Given the description of an element on the screen output the (x, y) to click on. 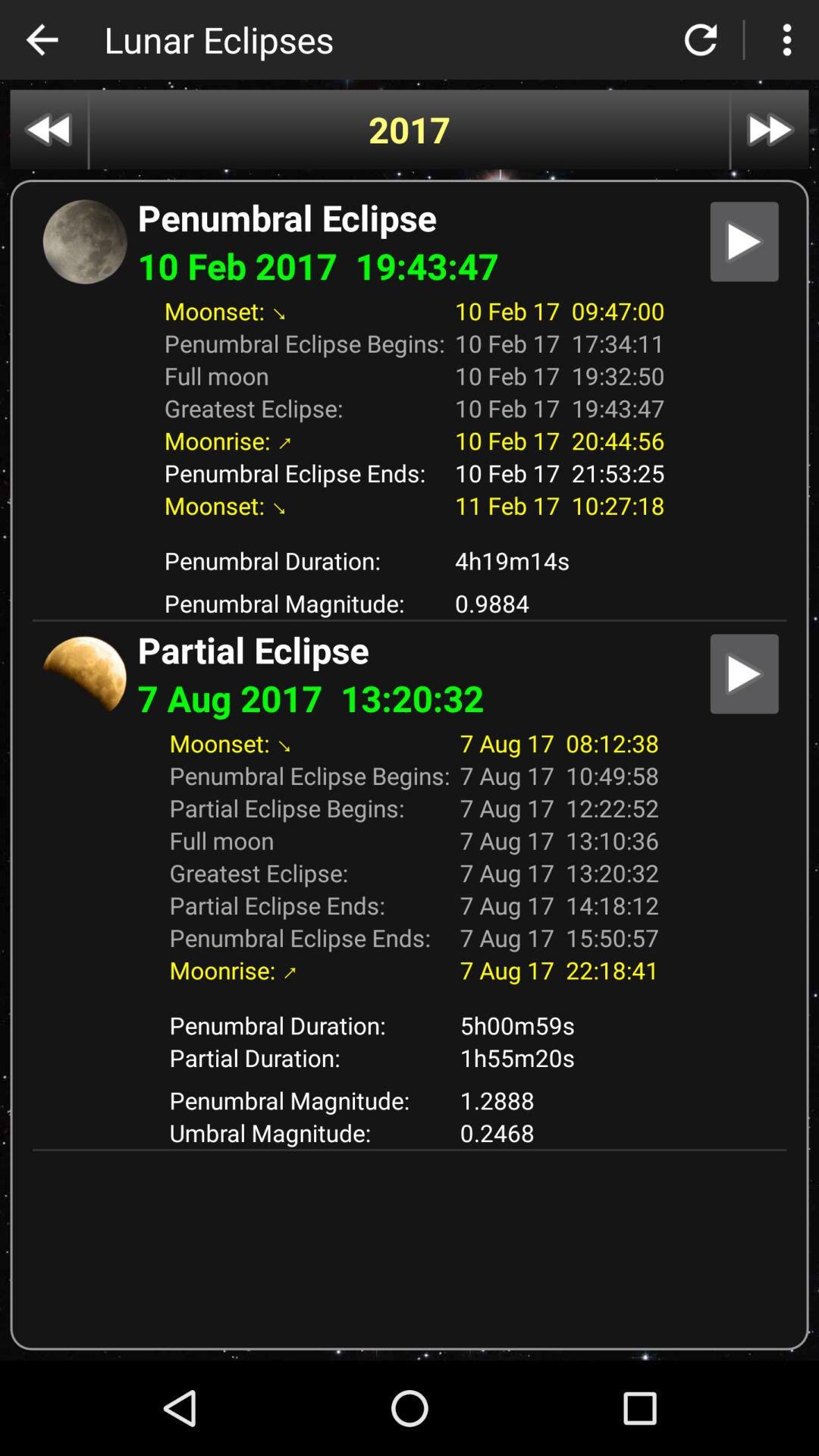
go back (48, 129)
